Given the description of an element on the screen output the (x, y) to click on. 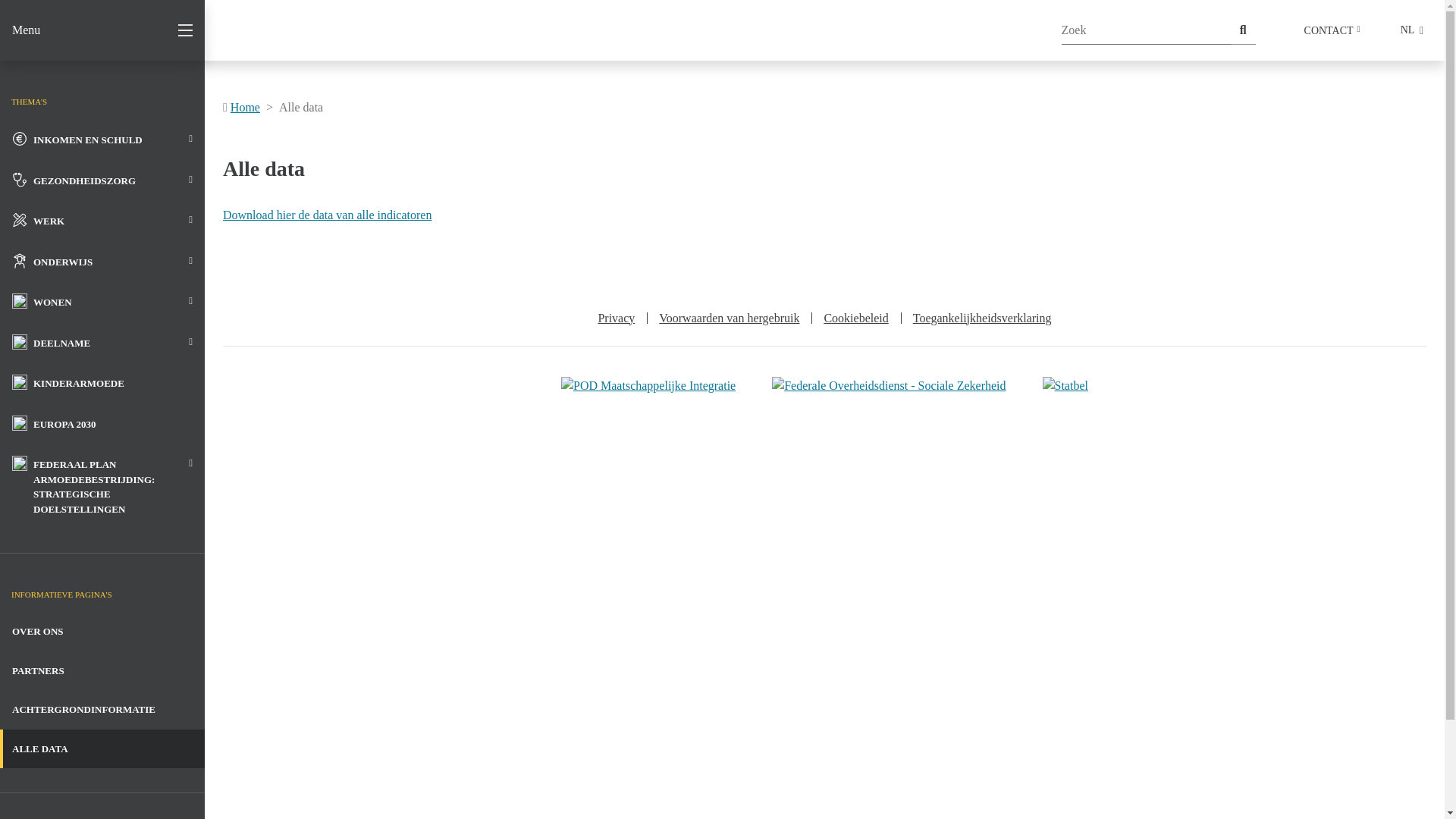
ACHTERGRONDINFORMATIE Element type: text (102, 709)
GEZONDHEIDSZORG Element type: text (102, 180)
Download hier de data van alle indicatoren Element type: text (326, 214)
ONDERWIJS Element type: text (102, 261)
PARTNERS Element type: text (102, 670)
KINDERARMOEDE Element type: text (102, 382)
OVER ONS Element type: text (102, 631)
Voorwaarden van hergebruik Element type: text (728, 317)
WONEN Element type: text (102, 301)
Home Element type: text (245, 106)
WERK Element type: text (102, 220)
ALLE DATA Element type: text (102, 748)
Zoek Element type: text (1242, 29)
Privacy Element type: text (615, 317)
ARMOEDE CIJFERS Element type: text (90, 29)
DEELNAME Element type: text (102, 342)
CONTACT Element type: text (1332, 30)
Cookiebeleid Element type: text (855, 317)
INKOMEN EN SCHULD Element type: text (102, 139)
Toegankelijkheidsverklaring Element type: text (982, 317)
NL Element type: text (1411, 29)
Menu Element type: text (102, 30)
EUROPA 2030 Element type: text (102, 423)
